Given the description of an element on the screen output the (x, y) to click on. 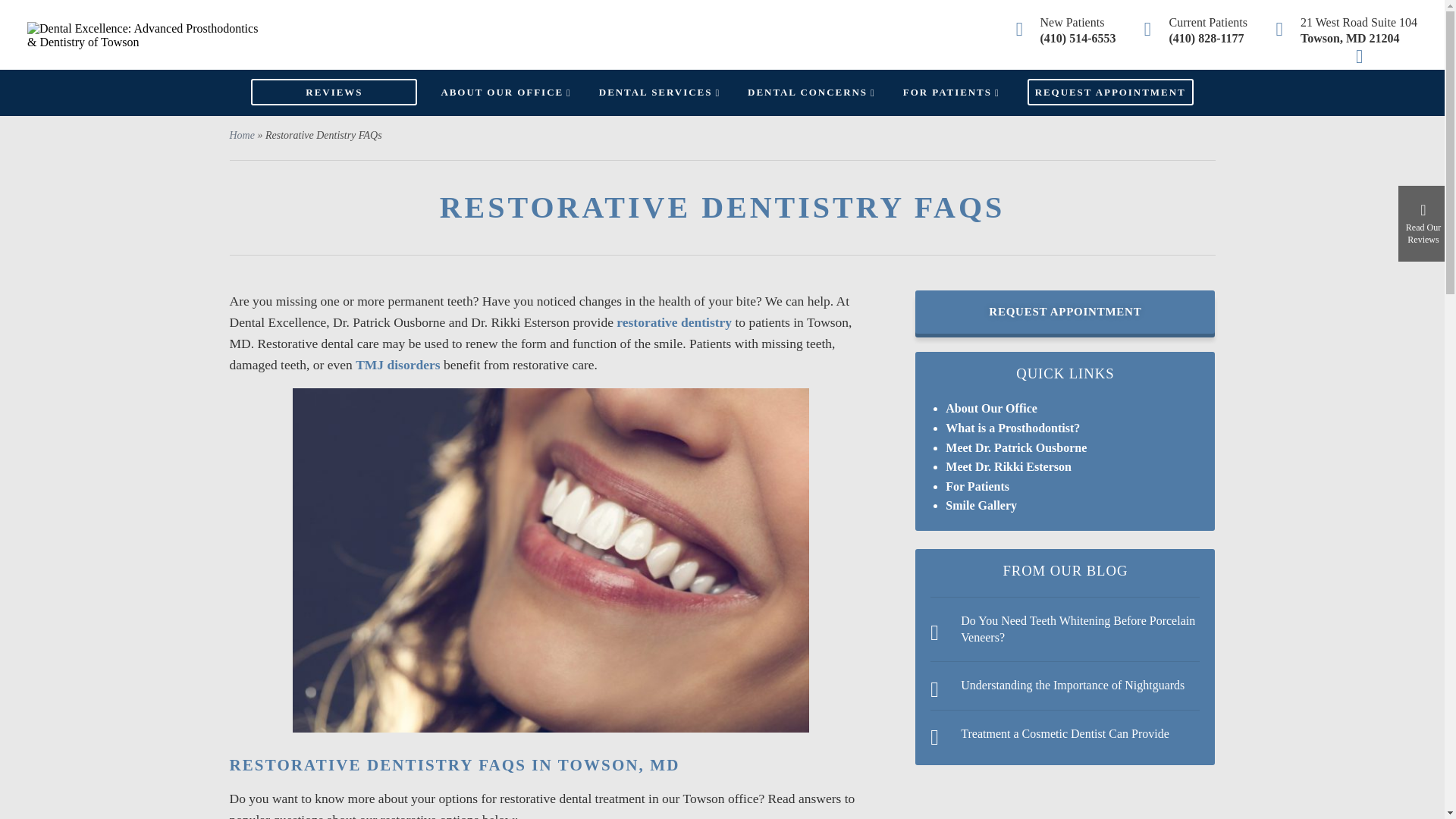
DENTAL SERVICES (659, 91)
DENTAL CONCERNS (812, 91)
REVIEWS (333, 91)
ABOUT OUR OFFICE (505, 91)
FOR PATIENTS (951, 91)
REQUEST APPOINTMENT (1110, 91)
